Given the description of an element on the screen output the (x, y) to click on. 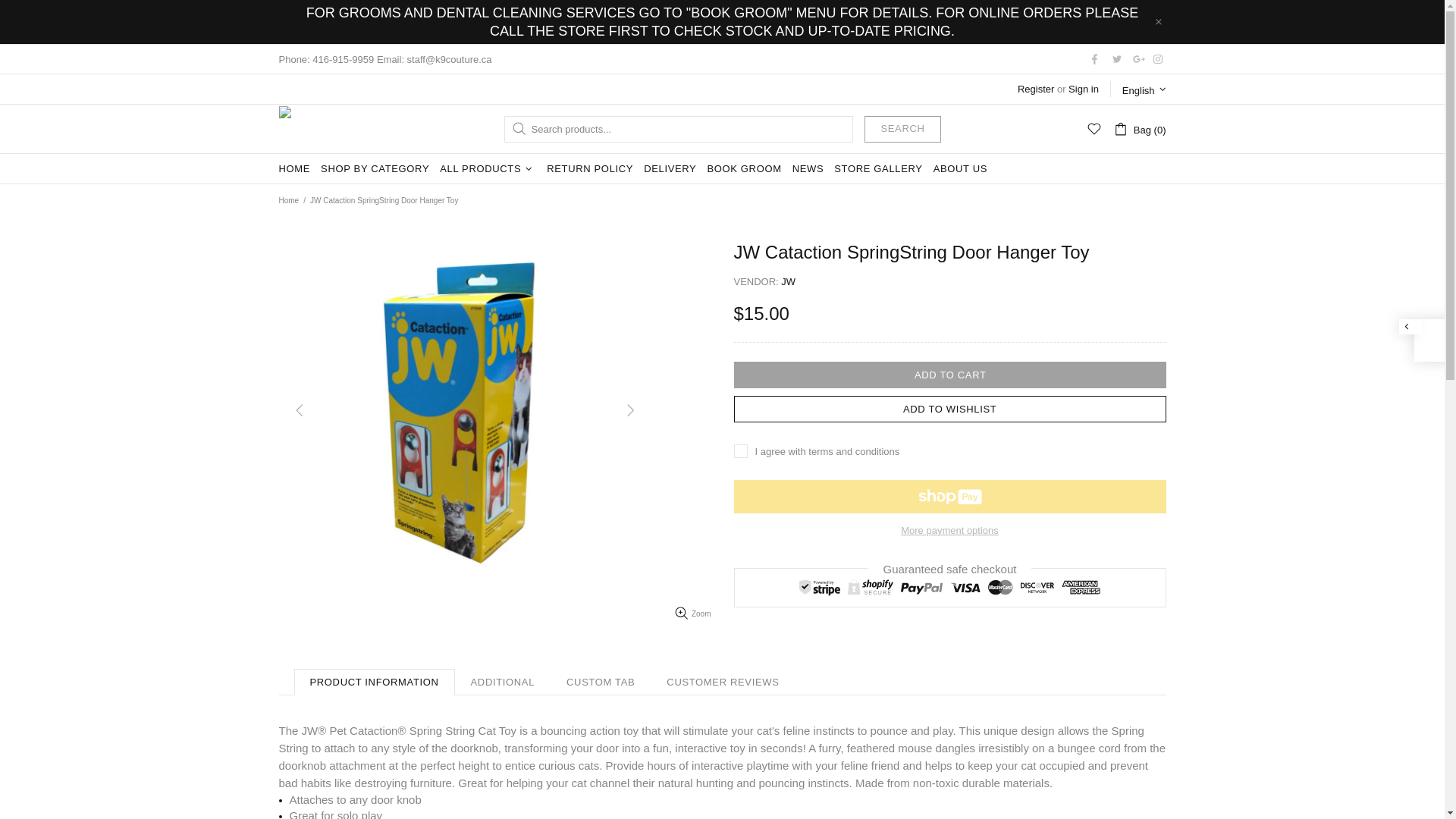
HOME (294, 168)
Sign in (1083, 88)
K9 Couture Inc. (308, 128)
ALL PRODUCTS (487, 168)
SEARCH (902, 129)
SHOP BY CATEGORY (374, 168)
Register (1035, 88)
